Given the description of an element on the screen output the (x, y) to click on. 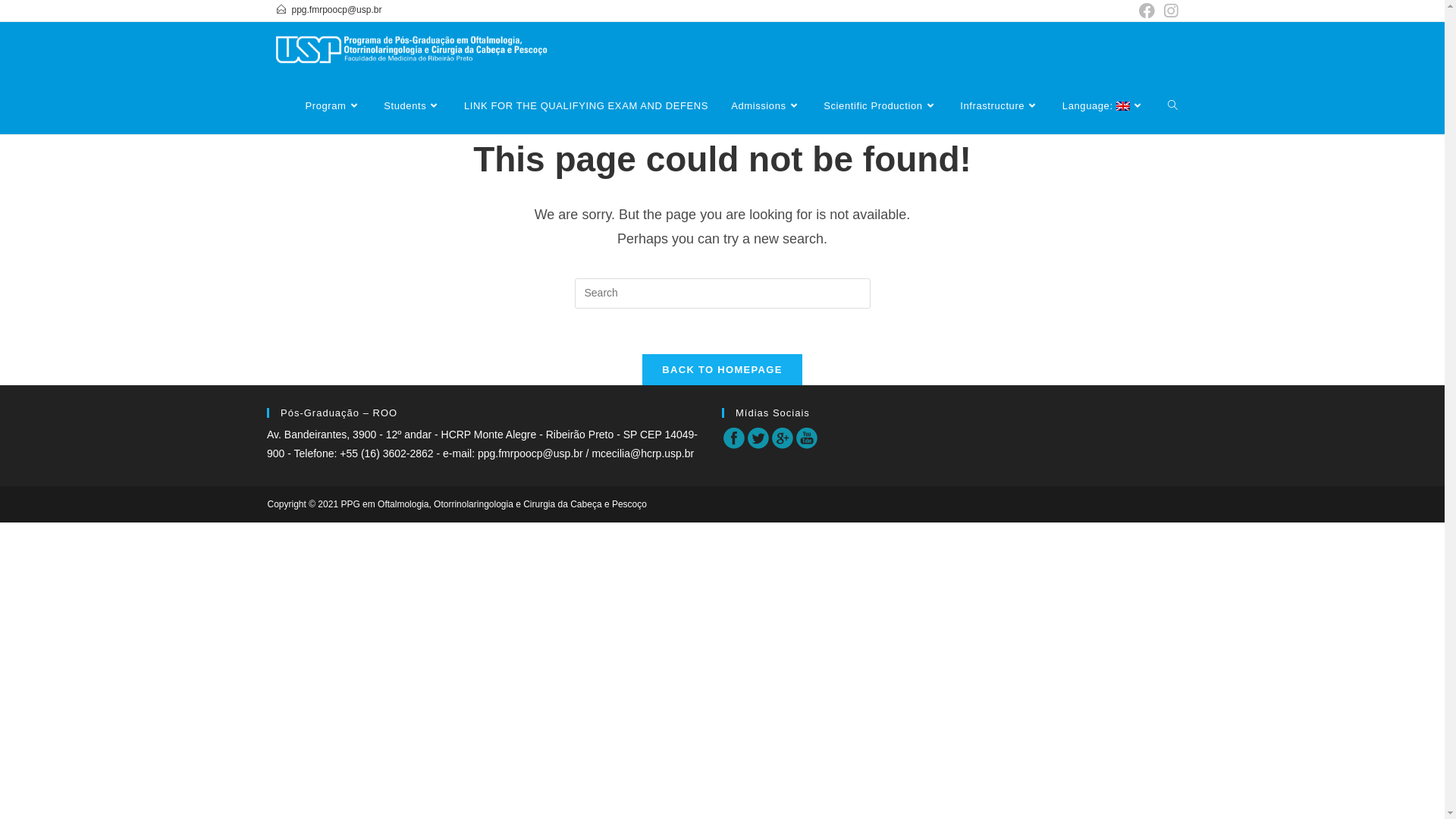
Students Element type: text (412, 106)
Admissions Element type: text (765, 106)
LINK FOR THE QUALIFYING EXAM AND DEFENS Element type: text (585, 106)
Facebook Element type: hover (733, 437)
Program Element type: text (333, 106)
YouTube Element type: hover (806, 437)
ppg.fmrpoocp@usp.br Element type: text (530, 453)
Google+ Element type: hover (782, 437)
Toggle website search Element type: text (1171, 106)
Infrastructure Element type: text (999, 106)
Language:  Element type: text (1103, 106)
ppg.fmrpoocp@usp.br Element type: text (336, 9)
Twitter Element type: hover (758, 437)
Scientific Production Element type: text (880, 106)
BACK TO HOMEPAGE Element type: text (721, 369)
